Given the description of an element on the screen output the (x, y) to click on. 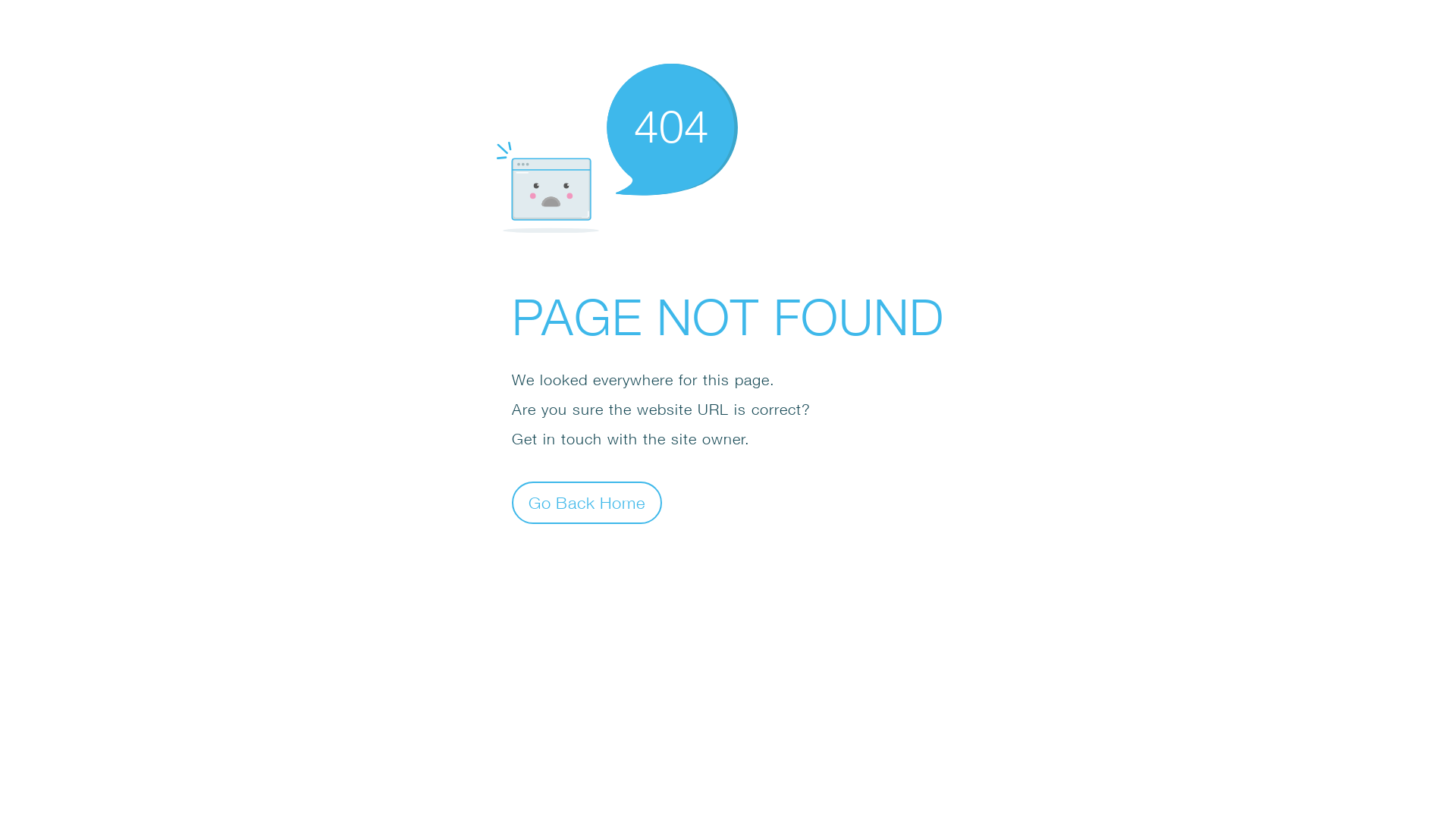
Go Back Home Element type: text (586, 502)
